Given the description of an element on the screen output the (x, y) to click on. 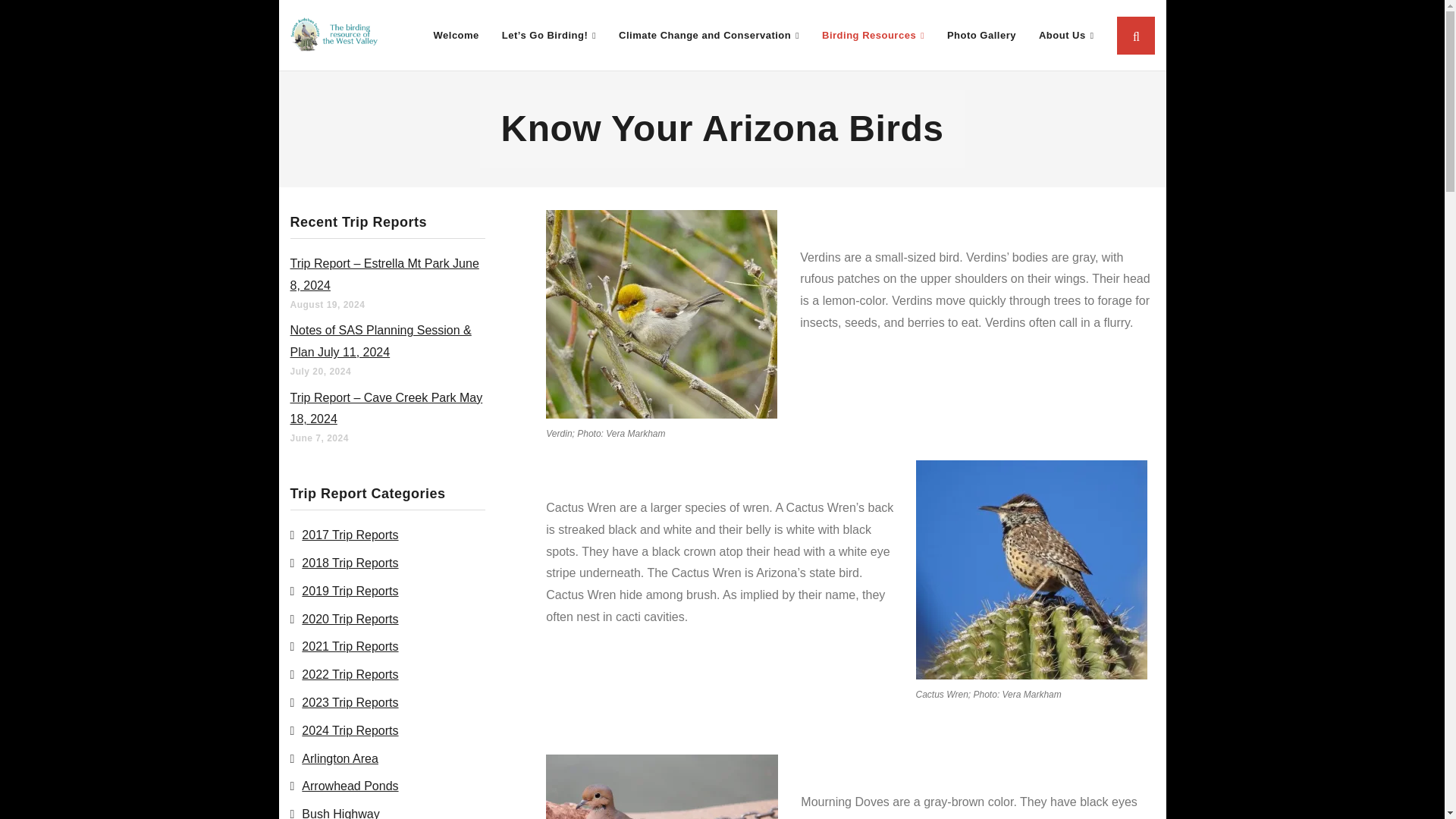
Birding Resources (873, 35)
Search (44, 22)
Climate Change and Conservation (708, 35)
Photo Gallery (981, 35)
Welcome (455, 35)
About Us (1066, 35)
